Given the description of an element on the screen output the (x, y) to click on. 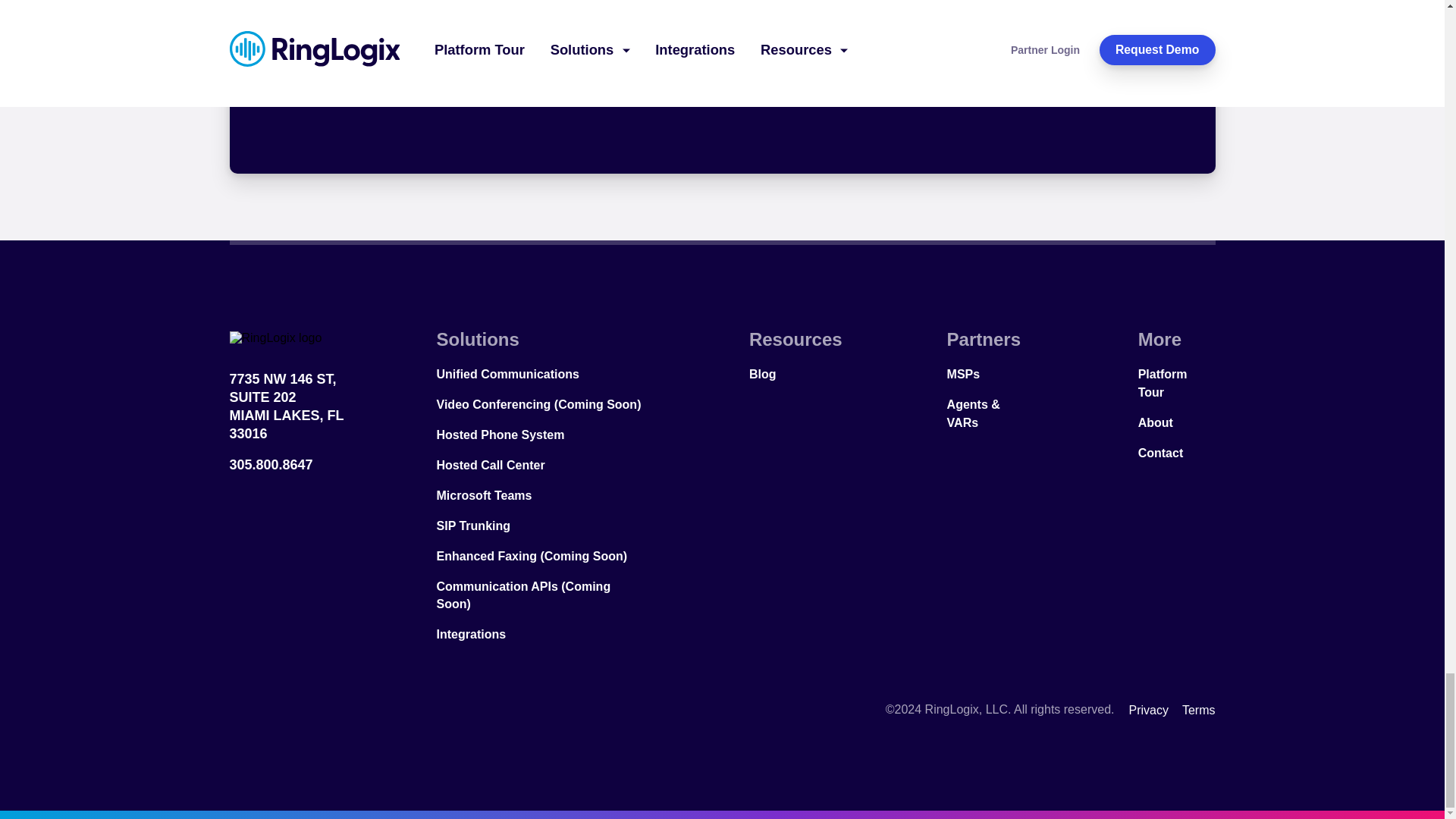
Hosted Phone System (540, 434)
Microsoft Teams (540, 495)
Solutions (540, 339)
SIP Trunking (540, 525)
Resources (796, 339)
Hosted Call Center (540, 465)
Integrations (306, 407)
Subscribe (540, 633)
305.800.8647 (721, 71)
